Given the description of an element on the screen output the (x, y) to click on. 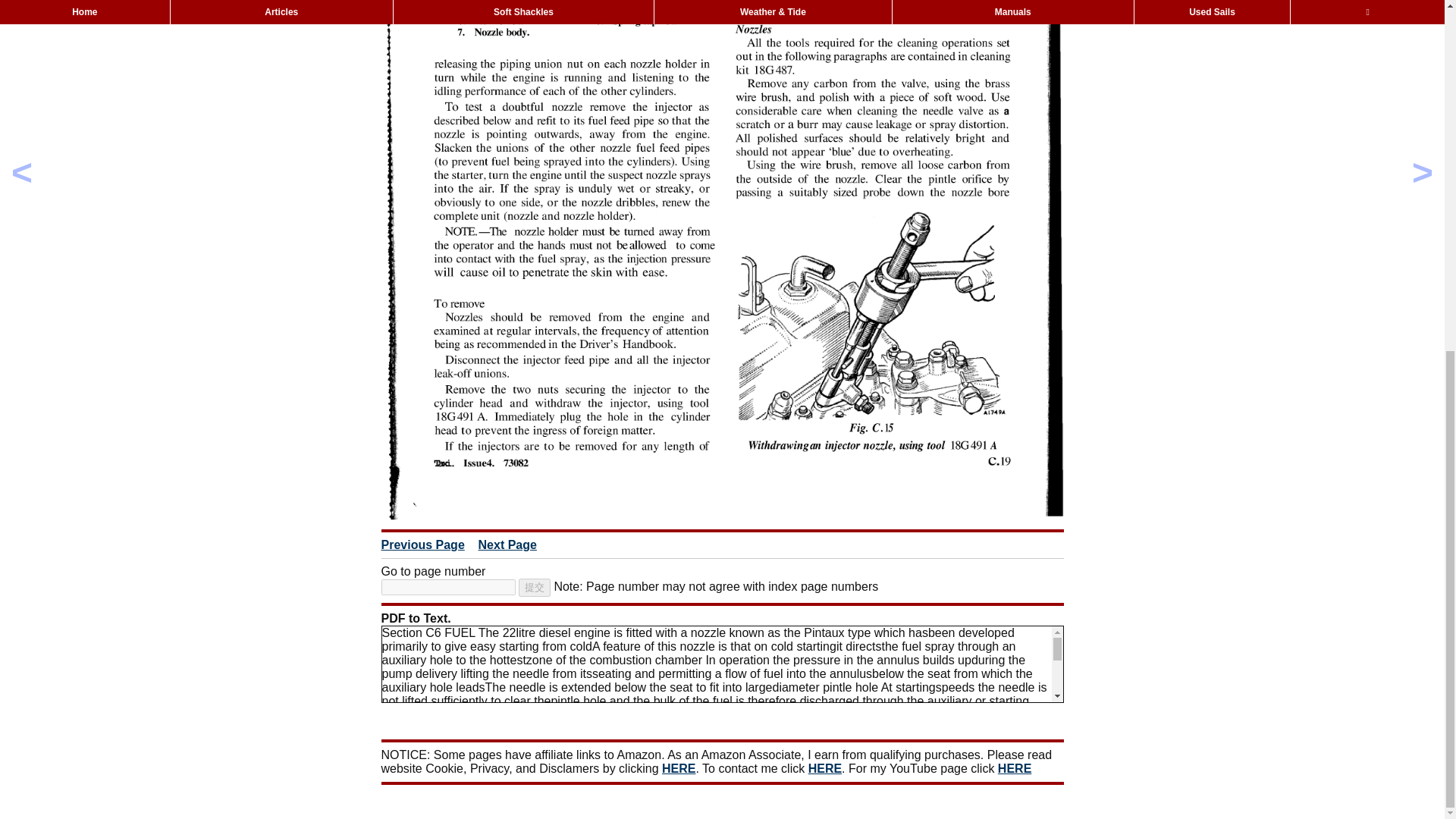
Next Page (508, 544)
HERE (678, 768)
Previous Page (422, 544)
HERE (824, 768)
HERE (1013, 768)
